Given the description of an element on the screen output the (x, y) to click on. 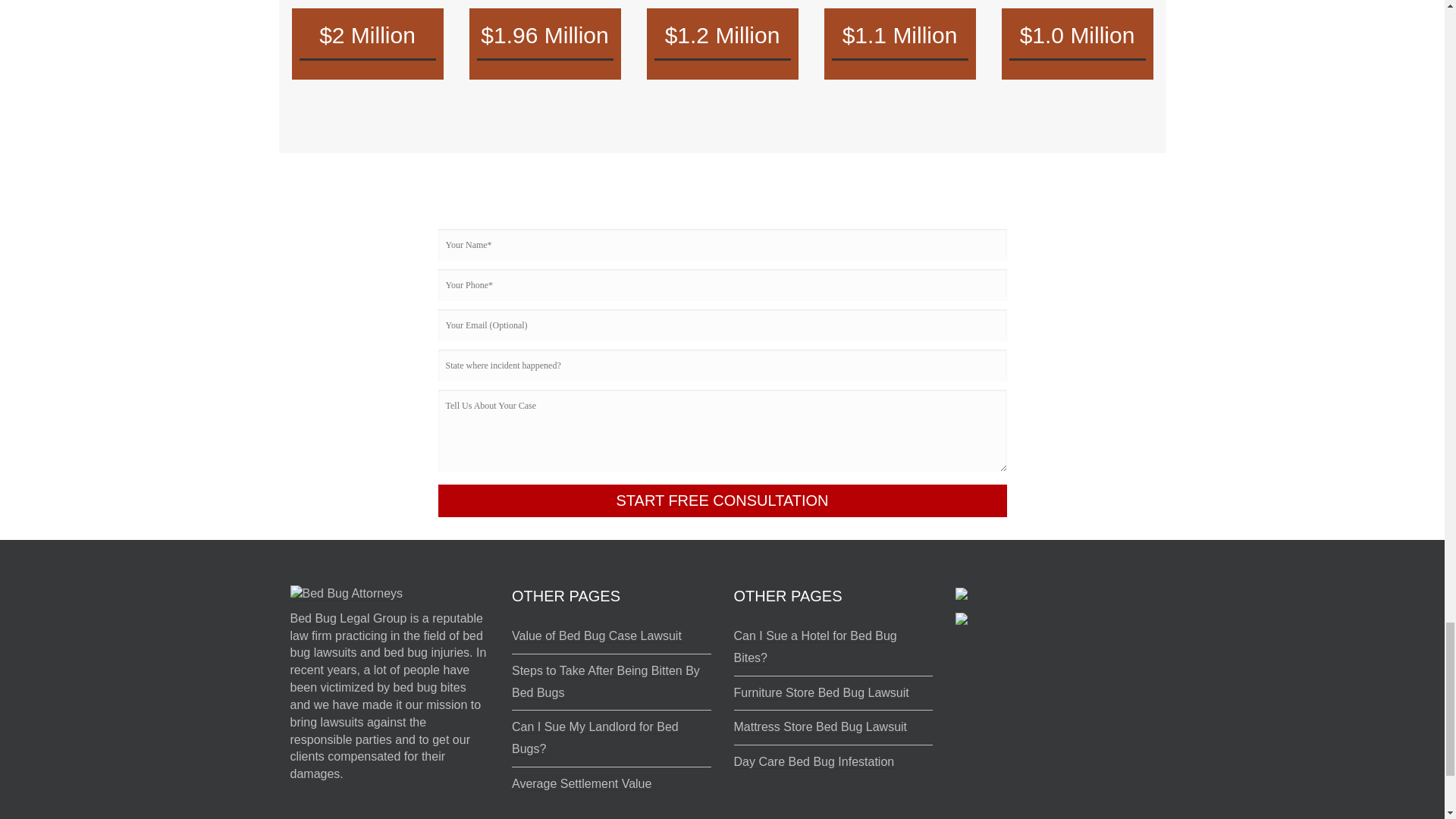
Can I Sue My Landlord for Bed Bugs? (595, 737)
START FREE CONSULTATION (722, 500)
Average Settlement Value (581, 784)
Mattress Store Bed Bug Lawsuit (820, 726)
Steps to Take After Being Bitten By Bed Bugs (606, 682)
Furniture Store Bed Bug Lawsuit (820, 693)
Value of Bed Bug Case Lawsuit (596, 635)
Day Care Bed Bug Infestation (814, 762)
Can I Sue a Hotel for Bed Bug Bites? (814, 647)
START FREE CONSULTATION (722, 500)
